Given the description of an element on the screen output the (x, y) to click on. 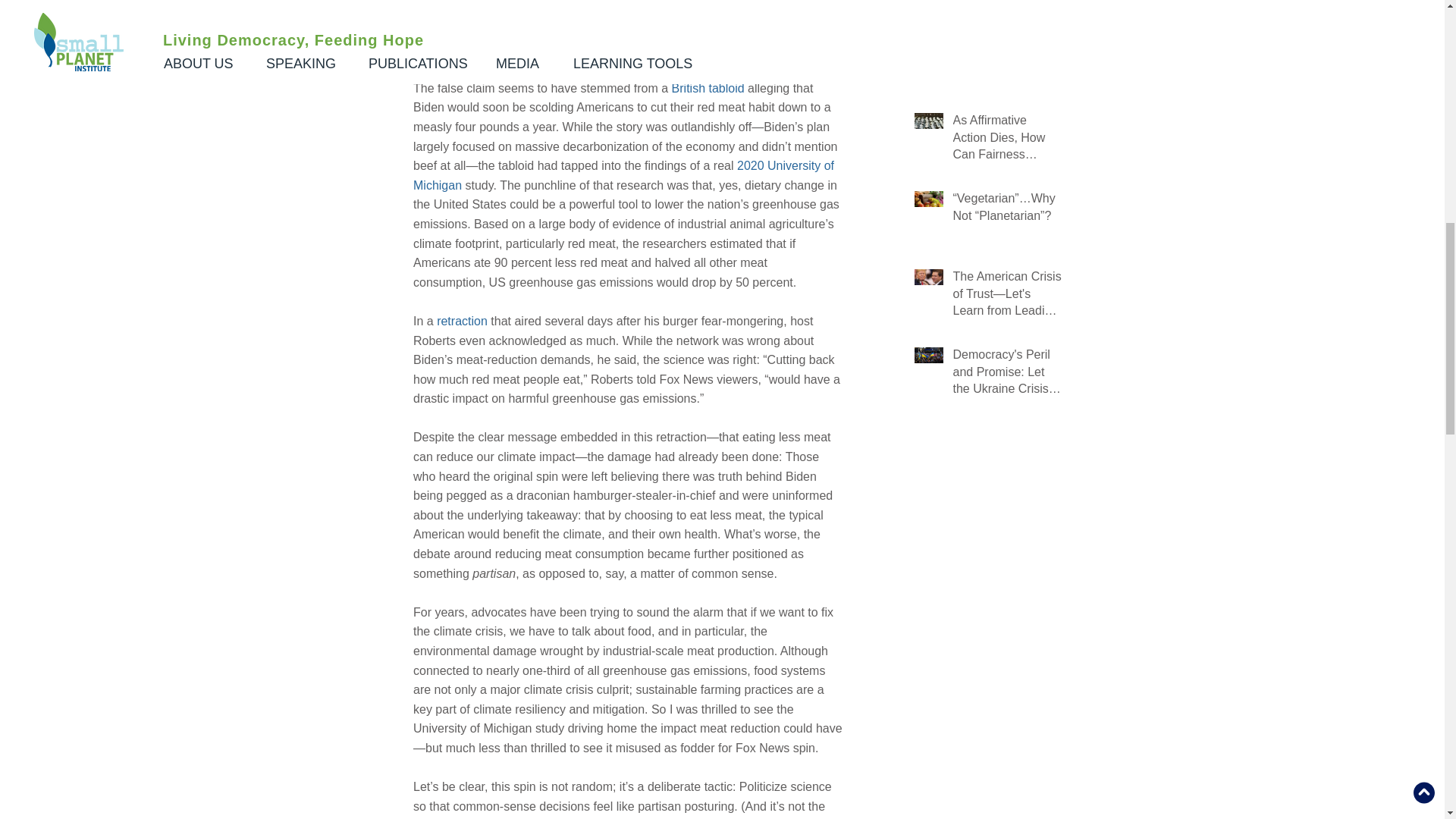
retraction (461, 320)
British tabloid (707, 88)
2020 University of Michigan (624, 174)
